Given the description of an element on the screen output the (x, y) to click on. 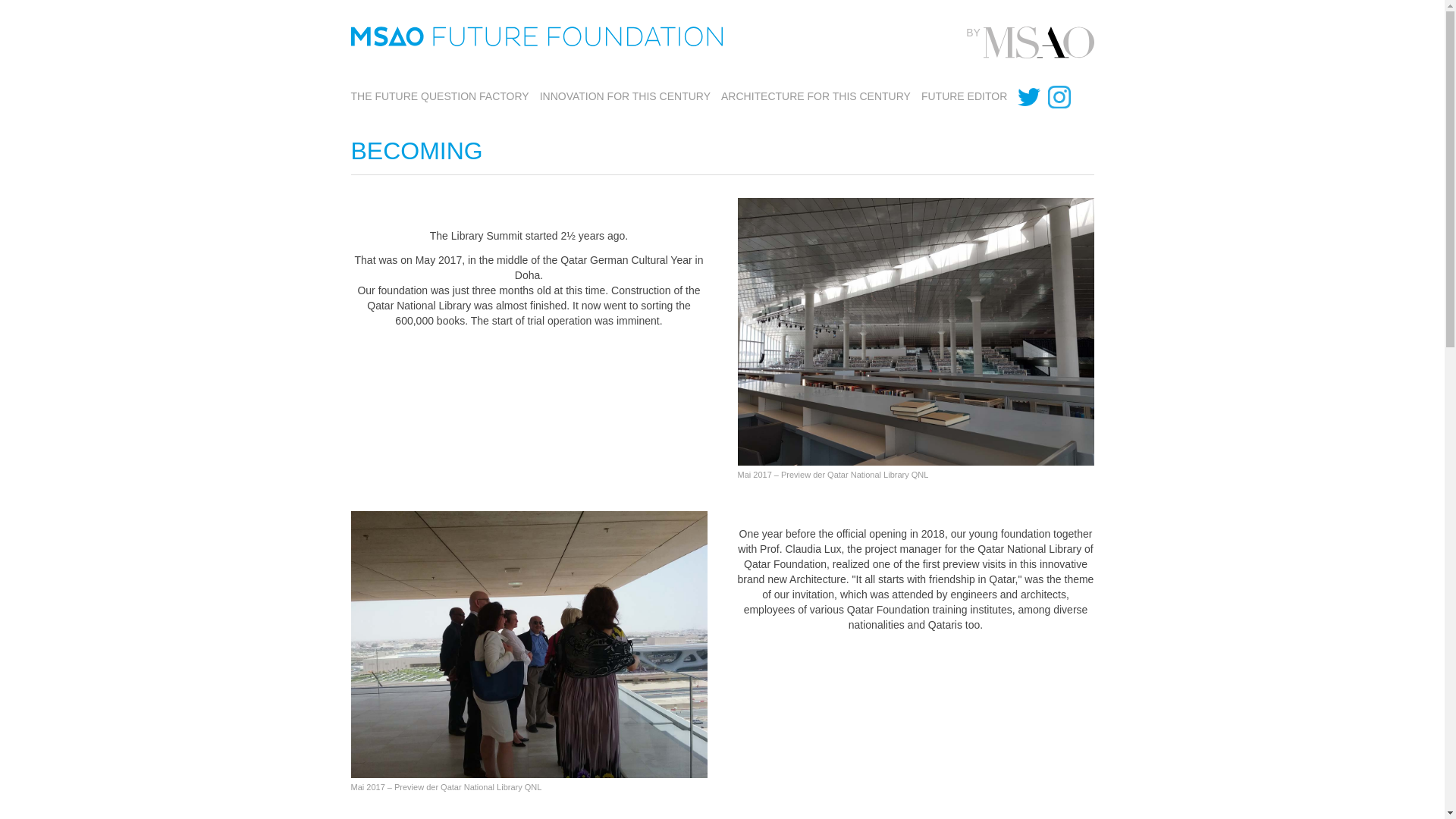
FUTURE EDITOR (964, 96)
ARCHITECTURE FOR THIS CENTURY (815, 96)
Architecture for this Century (815, 96)
THE FUTURE QUESTION FACTORY (439, 96)
INNOVATION FOR THIS CENTURY (625, 96)
Future Editor (964, 96)
The Future Question Factory (439, 96)
Innovation for this Century (625, 96)
